Given the description of an element on the screen output the (x, y) to click on. 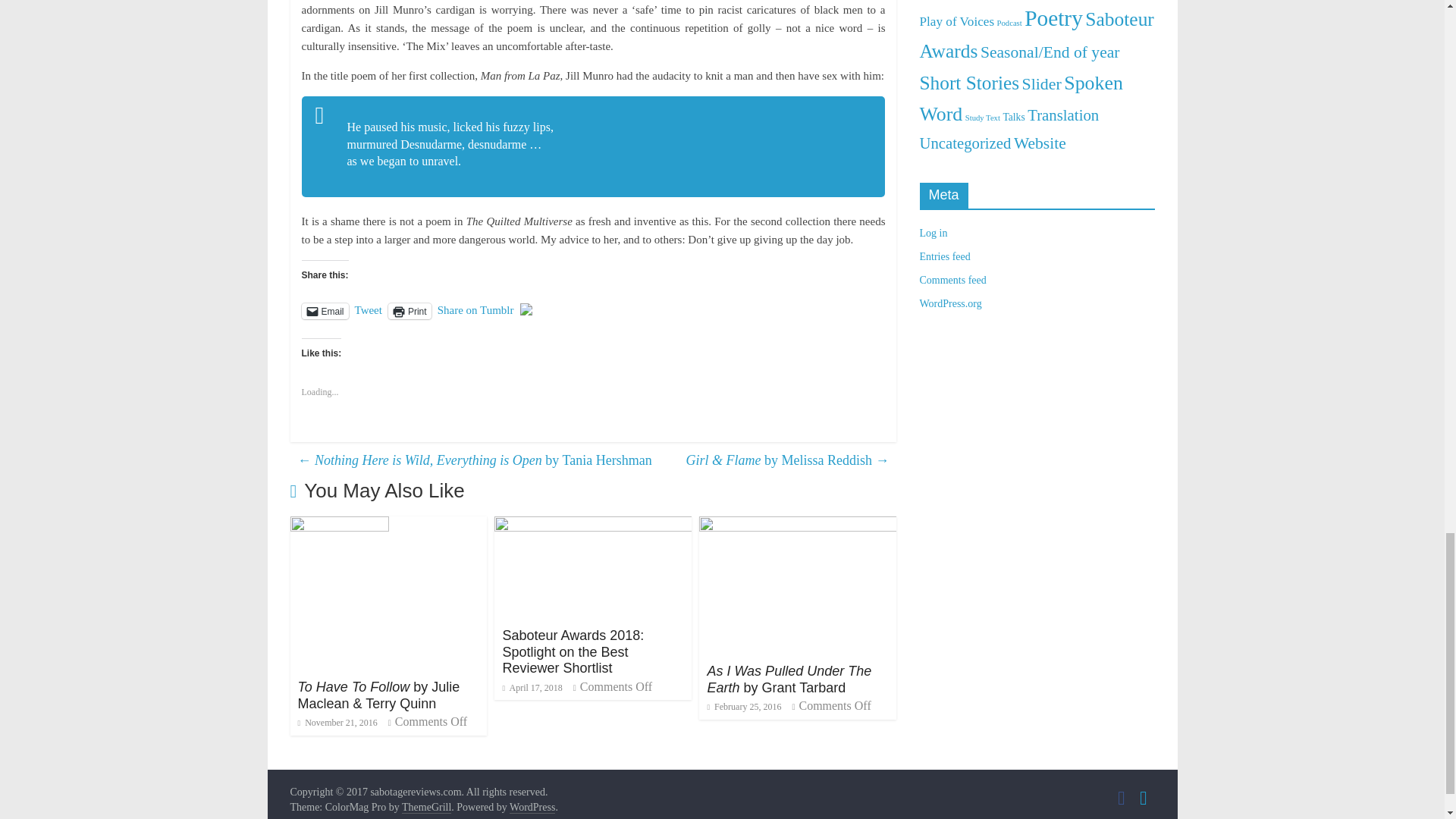
Click to print (409, 311)
6:47 pm (337, 722)
Share on Tumblr (475, 309)
Tweet (368, 309)
Click to email a link to a friend (325, 311)
Email (325, 311)
